Given the description of an element on the screen output the (x, y) to click on. 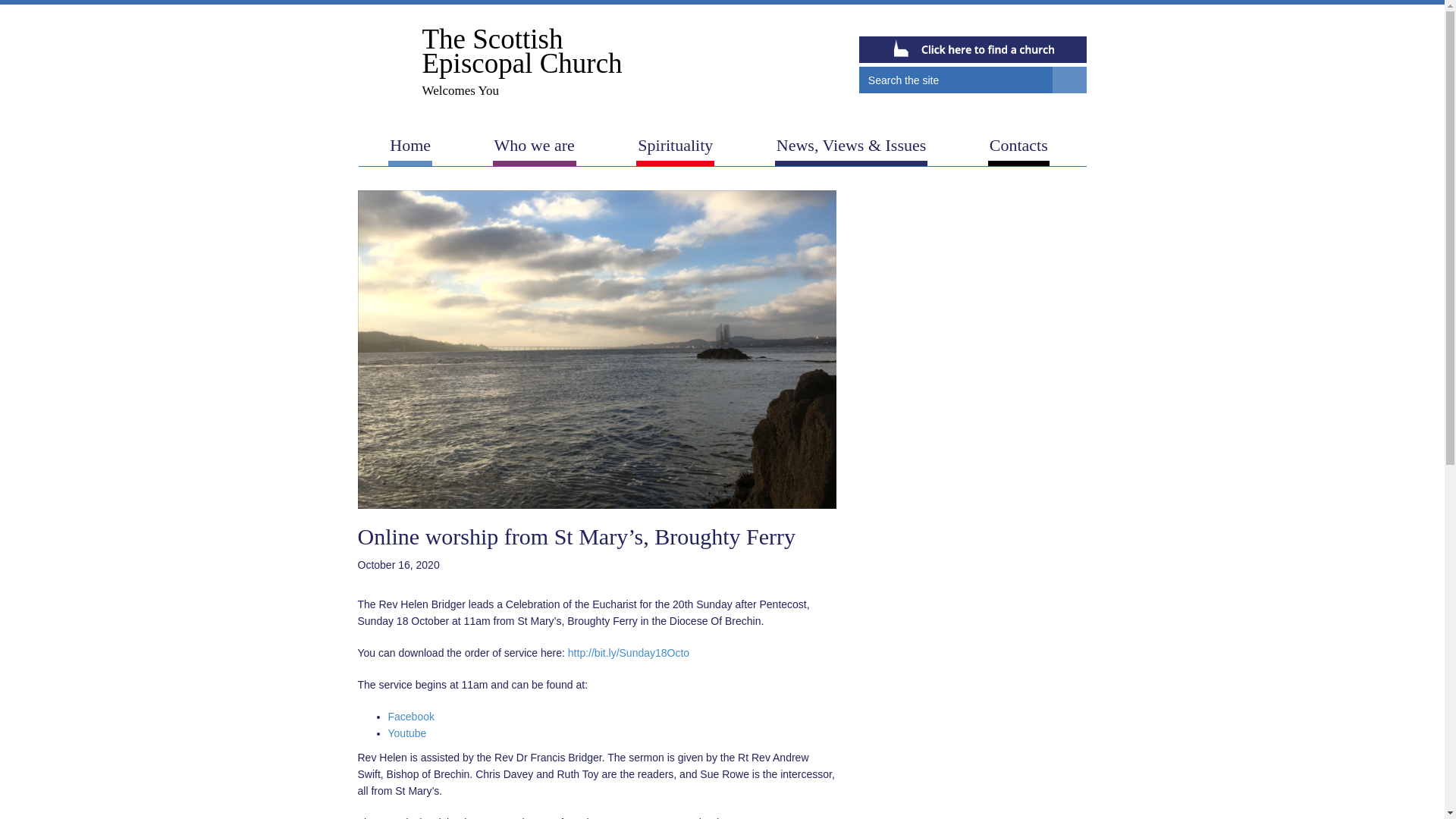
Search the site (490, 64)
Search (955, 79)
Search the site (1069, 79)
youtube (955, 79)
twitter (1051, 21)
Search (1000, 21)
Vimeo (1069, 79)
youtube (1077, 21)
twitter (1051, 21)
